Given the description of an element on the screen output the (x, y) to click on. 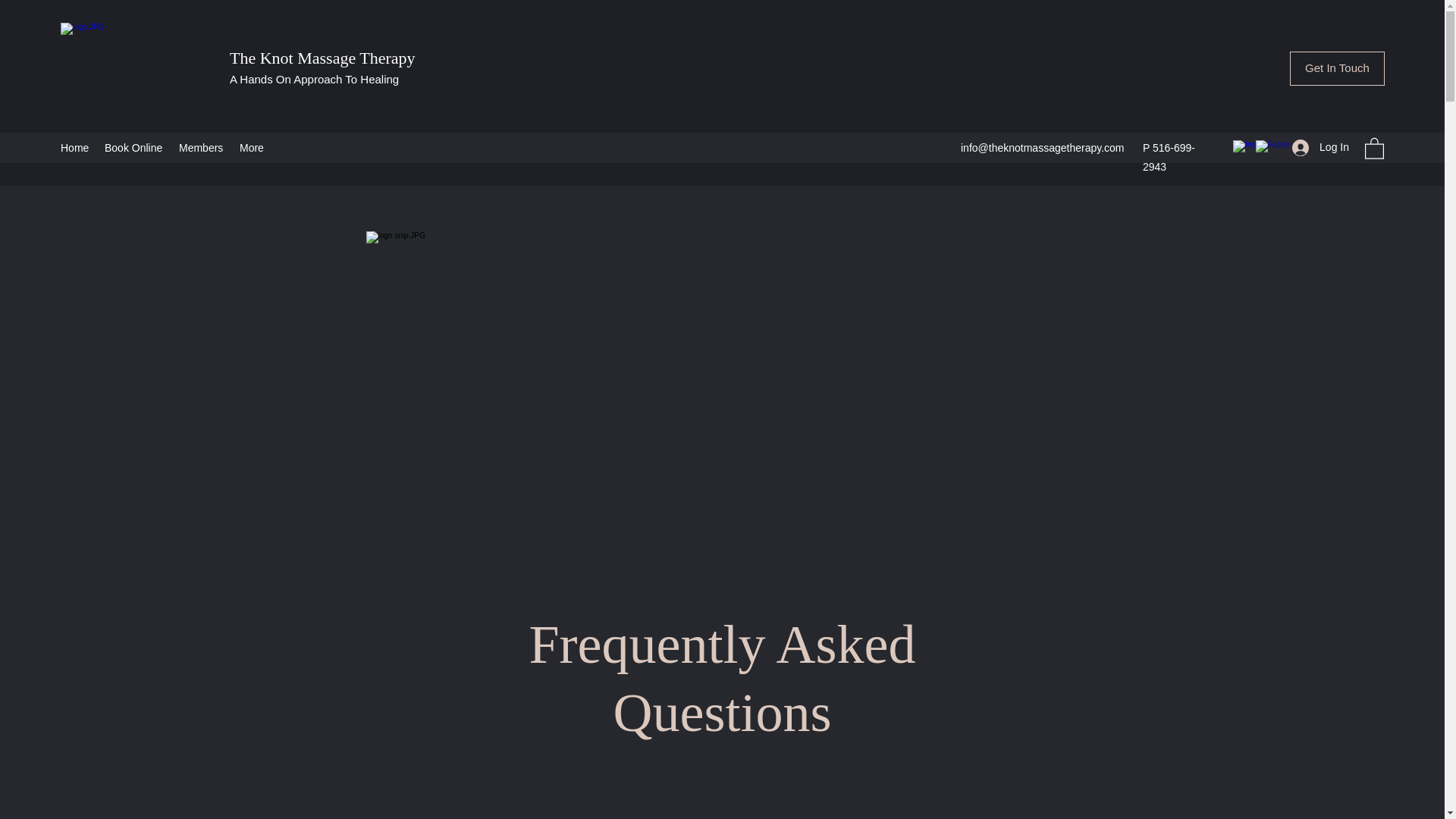
Members (201, 147)
Log In (1320, 147)
The Knot Massage Therapy (322, 57)
Home (74, 147)
Book Online (134, 147)
